Given the description of an element on the screen output the (x, y) to click on. 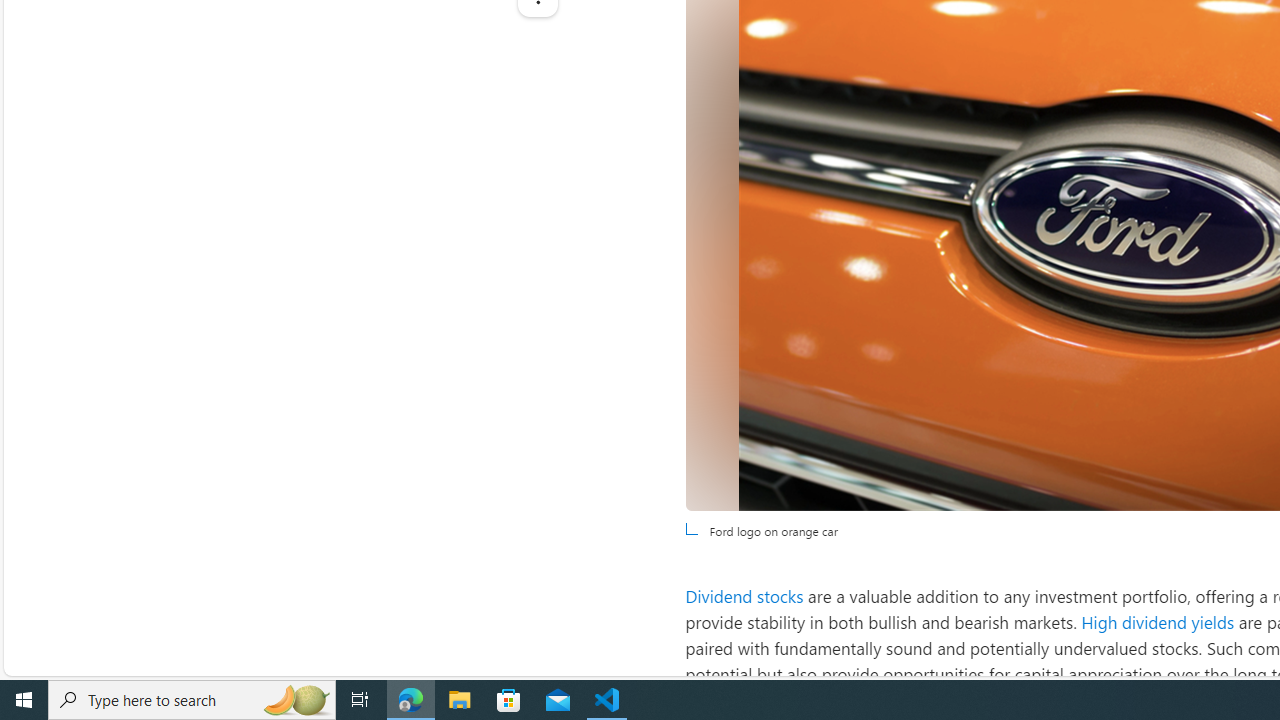
Dividend stocks (743, 595)
High dividend yields (1158, 621)
